Given the description of an element on the screen output the (x, y) to click on. 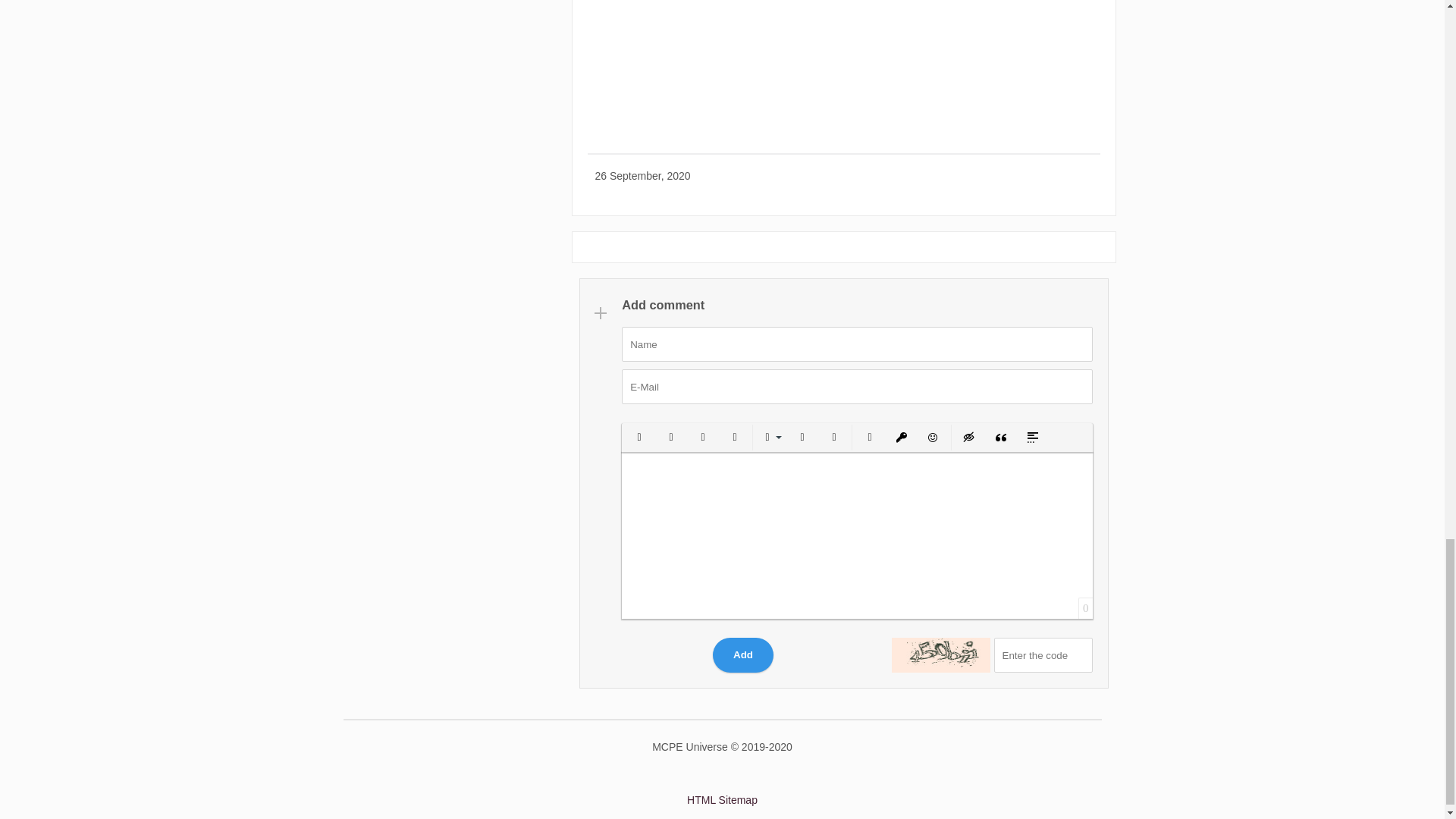
Strikethrough (734, 437)
Ordered List (801, 437)
Bold (638, 437)
Insert Link (869, 437)
Underline (702, 437)
Align (769, 437)
Align (769, 437)
Emoticons (932, 437)
Italic (670, 437)
Insert protected link (900, 437)
